Given the description of an element on the screen output the (x, y) to click on. 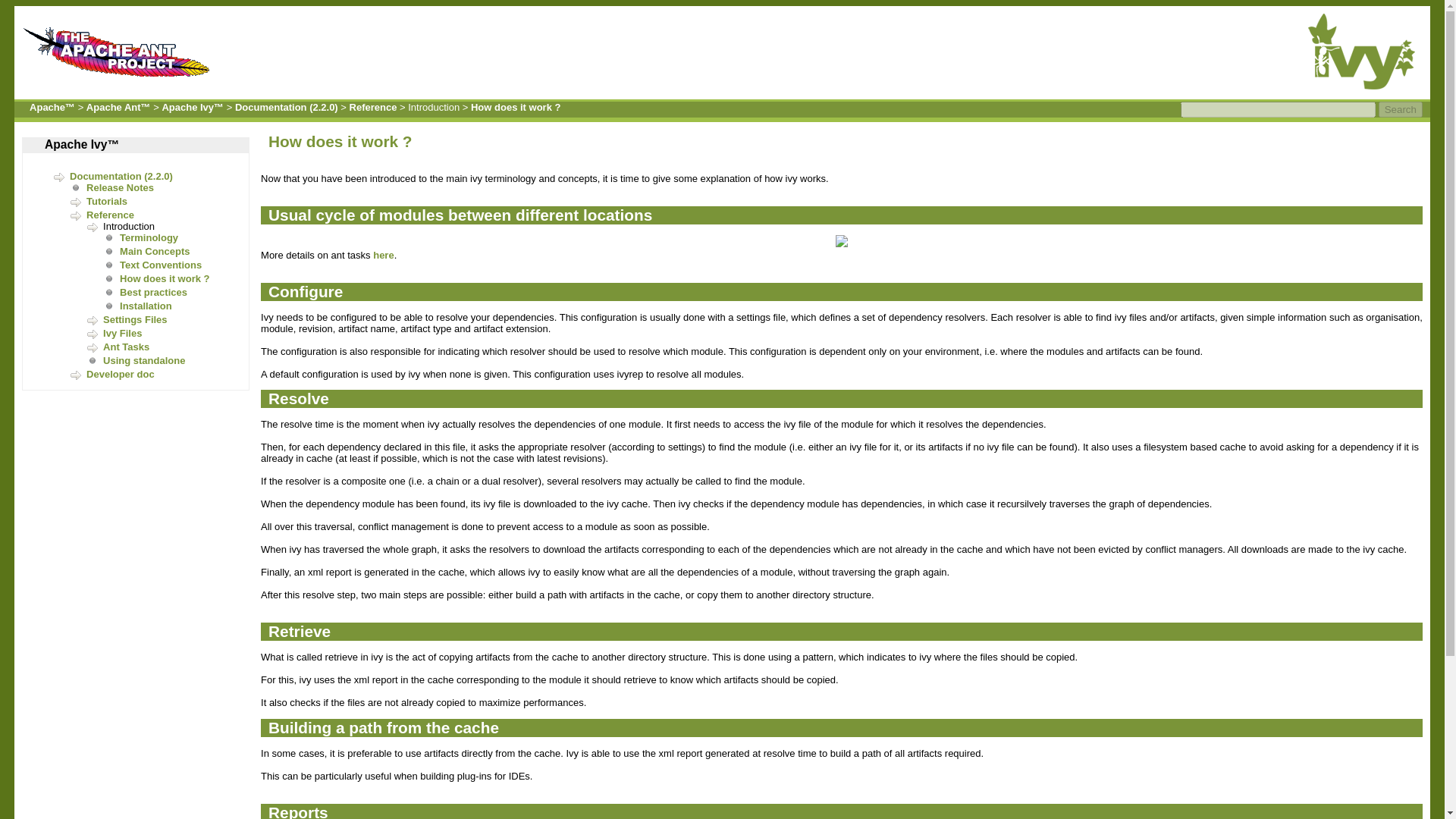
Text Conventions (160, 265)
Installation (145, 306)
Tutorials (106, 201)
Main Concepts (154, 251)
Release Notes (119, 187)
Reference (109, 214)
Best practices (153, 292)
Reference (373, 107)
Terminology (148, 237)
How does it work ? (515, 107)
Search (1400, 109)
Settings Files (135, 319)
How does it work ? (164, 278)
Search (1400, 109)
Apache Ant (120, 79)
